Given the description of an element on the screen output the (x, y) to click on. 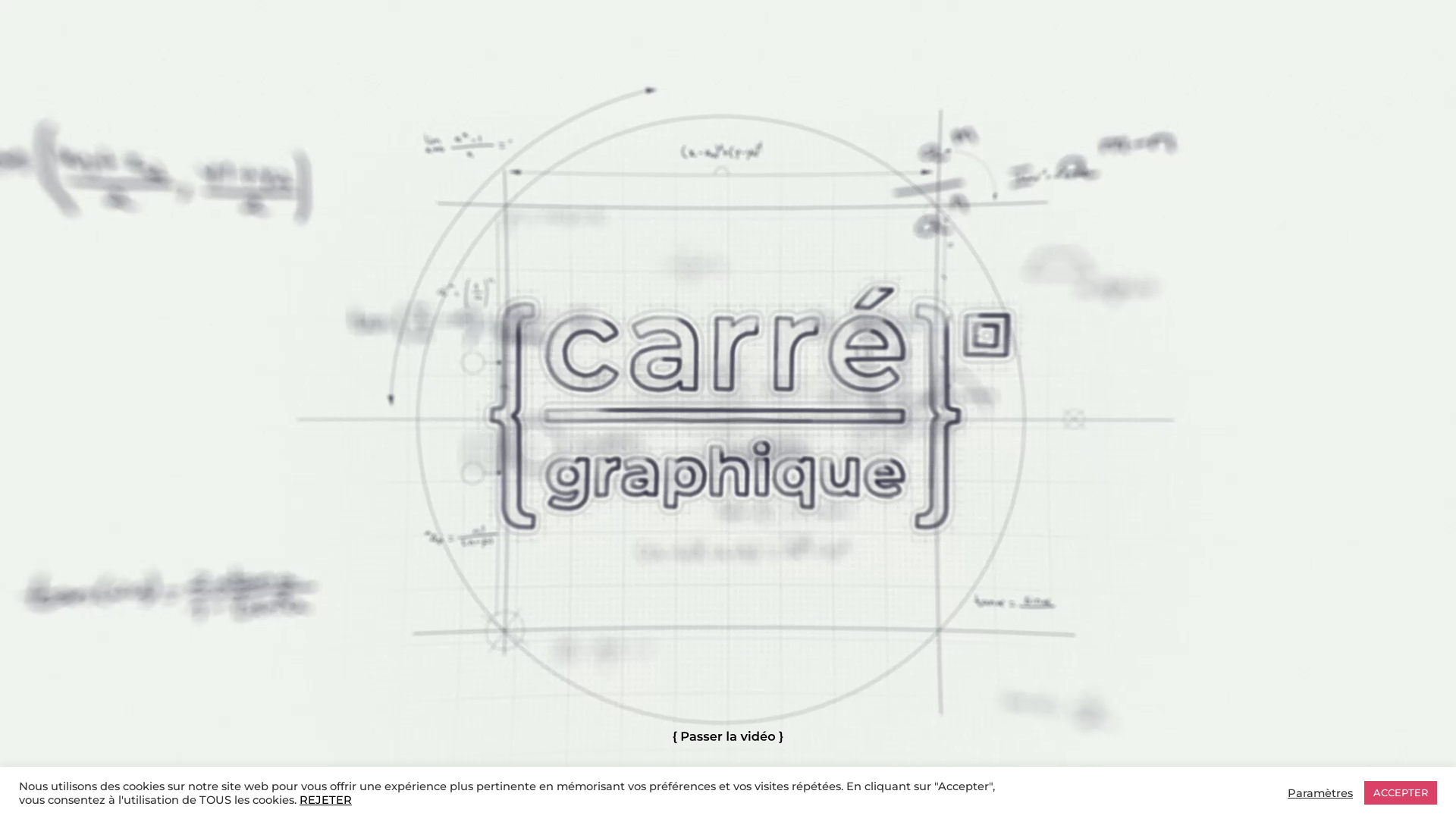
REJETER Element type: text (325, 799)
Qui sommes-nous Element type: text (385, 55)
Contact Element type: text (924, 55)
Nos services Element type: text (565, 55)
ACCEPTER Element type: text (1400, 792)
